Given the description of an element on the screen output the (x, y) to click on. 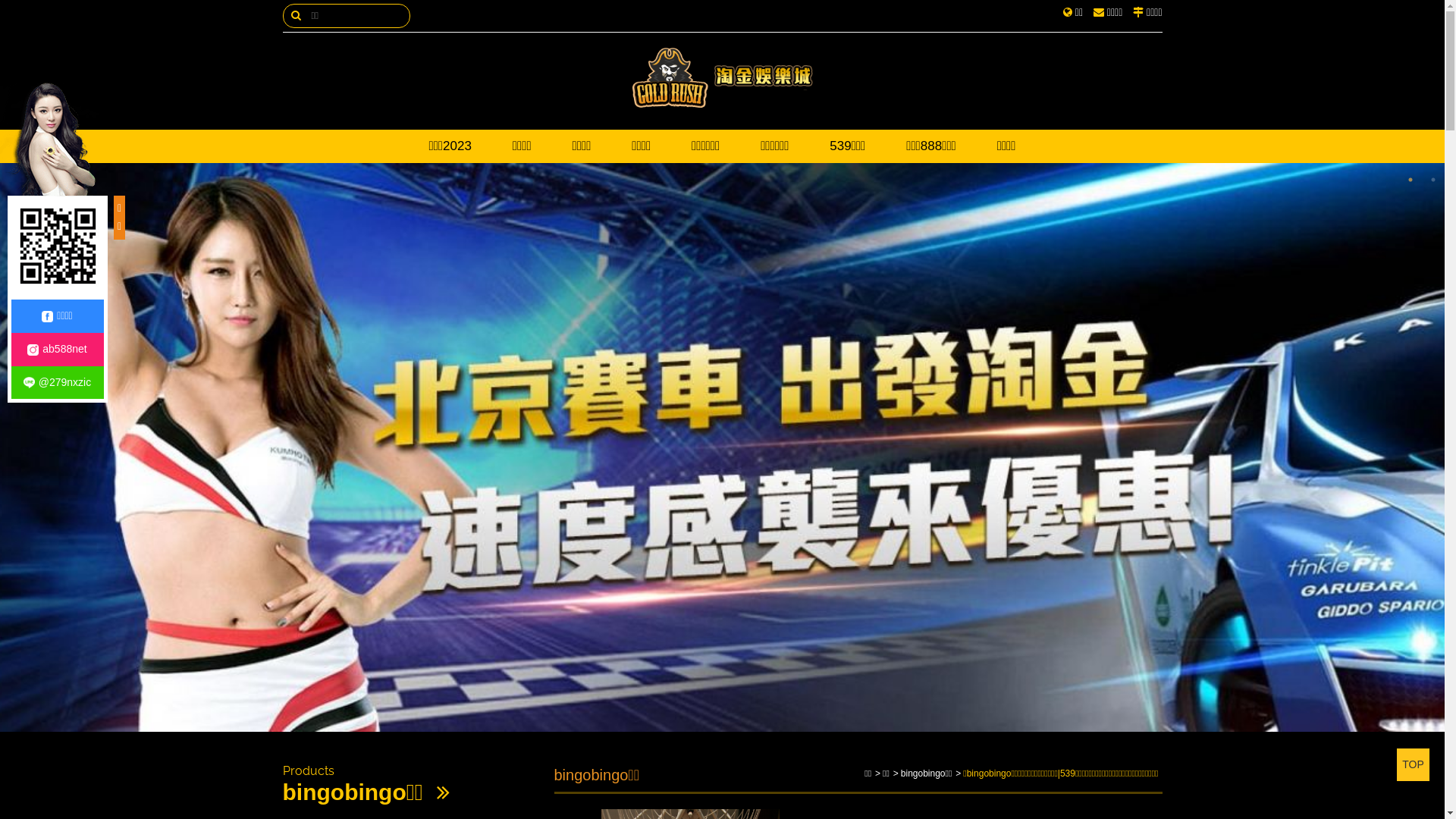
@279nxzic Element type: text (56, 382)
2 Element type: text (1432, 179)
ab588net Element type: text (56, 349)
TOP Element type: text (1412, 764)
1 Element type: text (1410, 179)
